Given the description of an element on the screen output the (x, y) to click on. 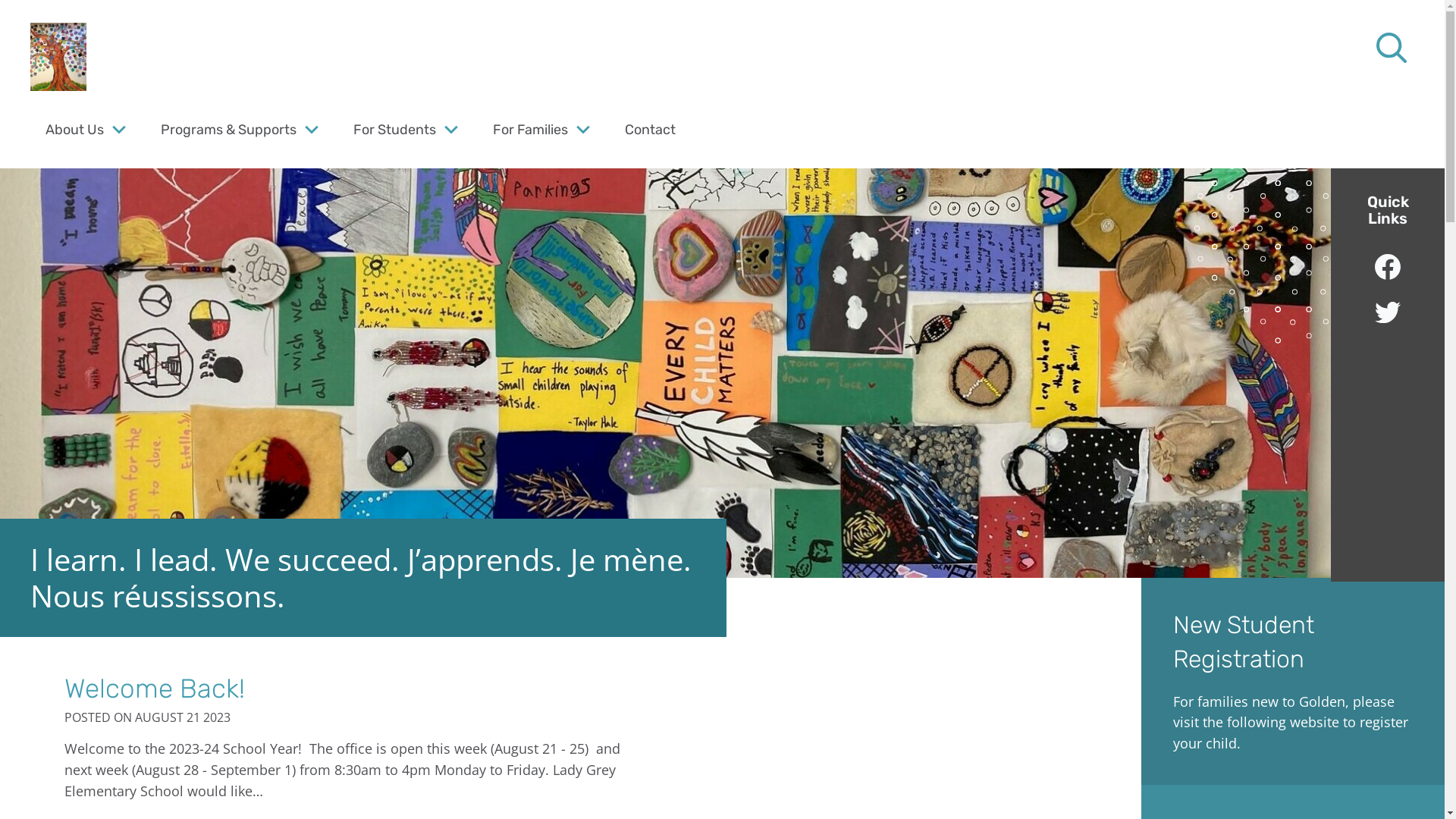
Lady Grey Elementary School's Twitter Element type: hover (1387, 312)
Quick Links Element type: text (1387, 209)
Programs & Supports Element type: text (228, 129)
For Students Element type: text (394, 129)
home Element type: hover (58, 56)
For Families Element type: text (529, 129)
About Us Element type: text (74, 129)
Lady Grey Elementary School's Facebook Element type: hover (1387, 266)
Search Element type: text (45, 19)
Contact Element type: text (649, 129)
